Given the description of an element on the screen output the (x, y) to click on. 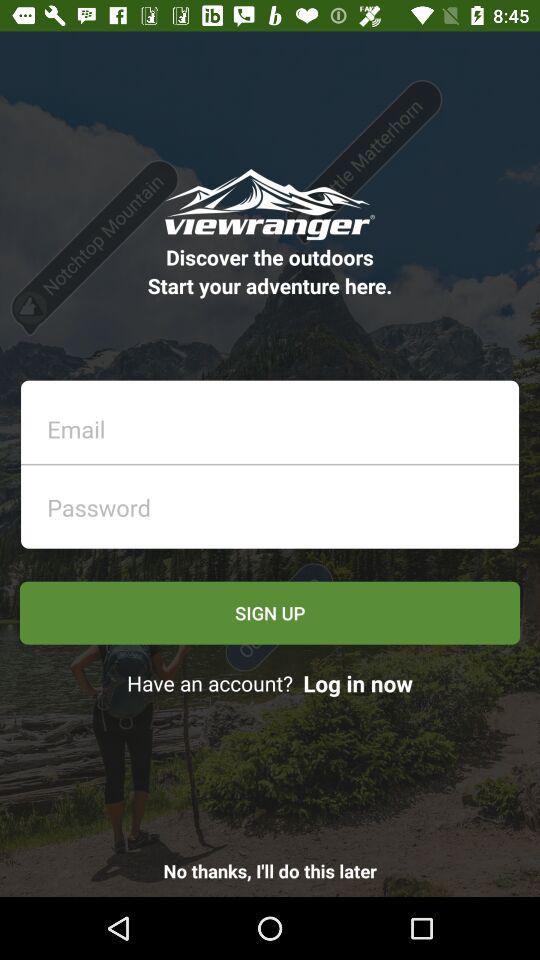
add email (276, 423)
